Given the description of an element on the screen output the (x, y) to click on. 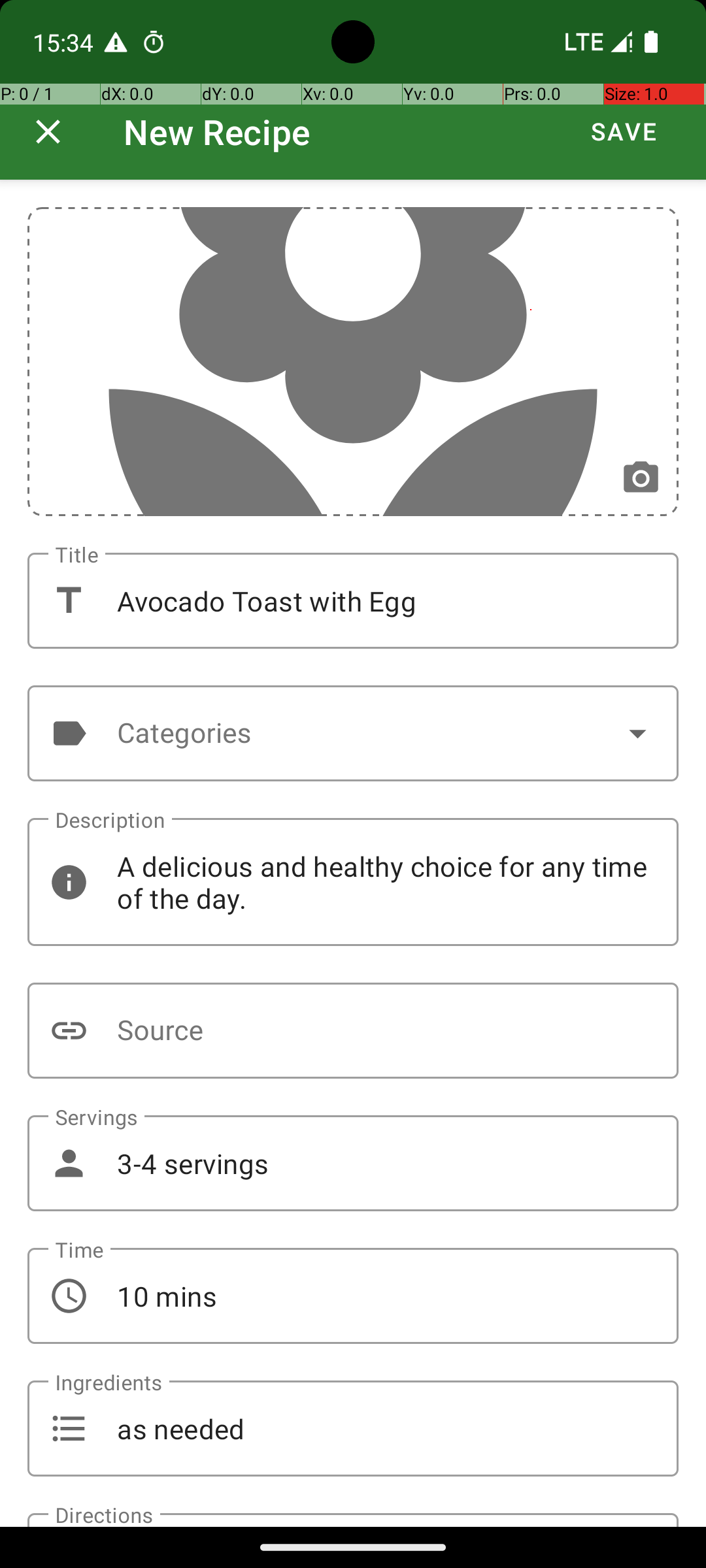
Source Element type: android.widget.EditText (352, 1030)
10 mins Element type: android.widget.EditText (352, 1295)
as needed Element type: android.widget.EditText (352, 1428)
Toast bread, top with mashed avocado, a fried egg, salt, pepper, and chili flakes. Try adding a pinch of your favorite spices for extra flavor. Element type: android.widget.EditText (352, 1519)
